Given the description of an element on the screen output the (x, y) to click on. 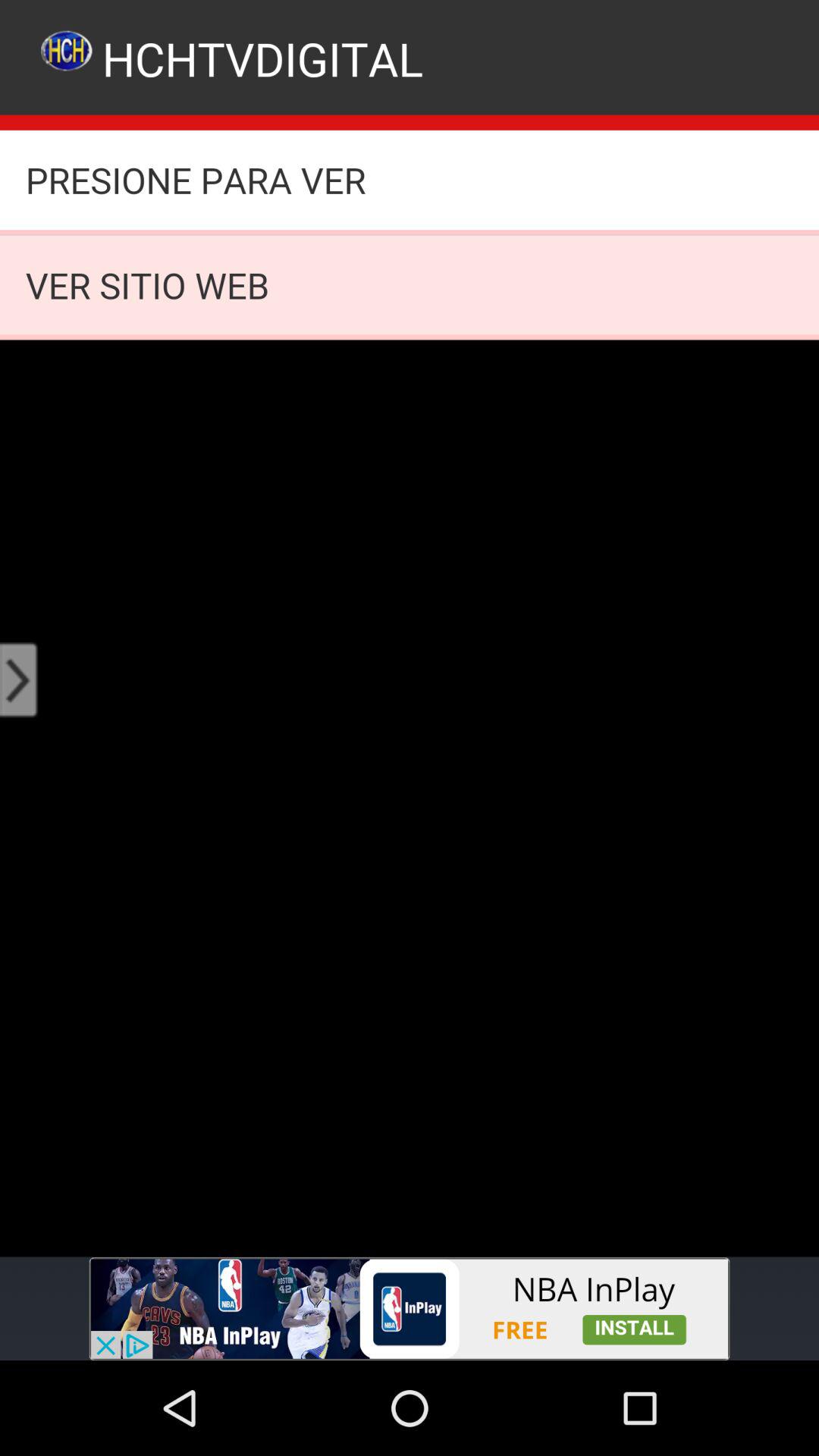
advertisement at bottom (409, 1308)
